Given the description of an element on the screen output the (x, y) to click on. 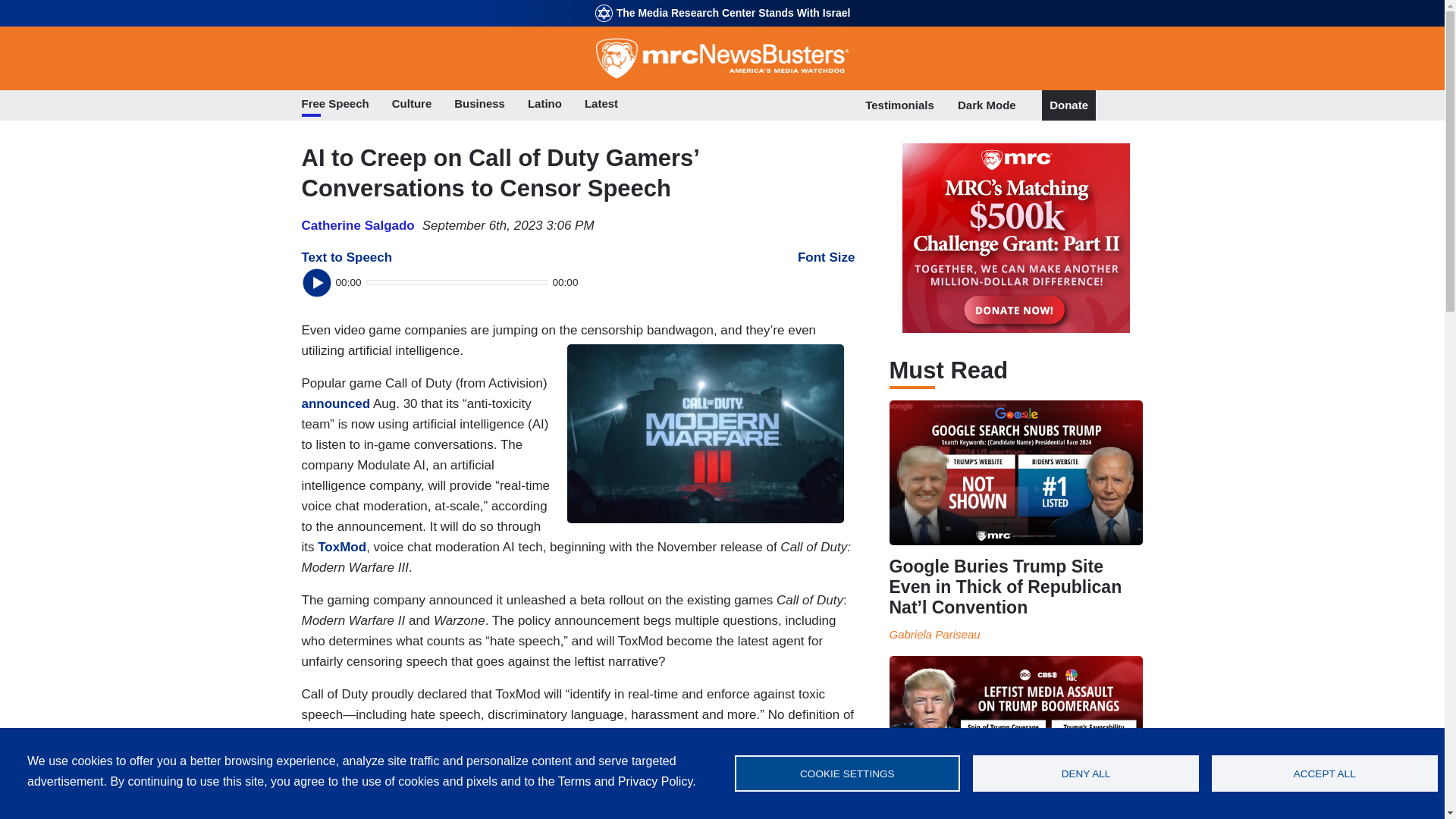
Dark Mode (987, 104)
Testimonials (899, 104)
Skip to main content (721, 1)
Latest (601, 105)
Latino (544, 105)
Business (479, 105)
DENY ALL (1085, 773)
COOKIE SETTINGS (846, 773)
Free Speech (335, 105)
Culture (411, 105)
ACCEPT ALL (1324, 773)
